Given the description of an element on the screen output the (x, y) to click on. 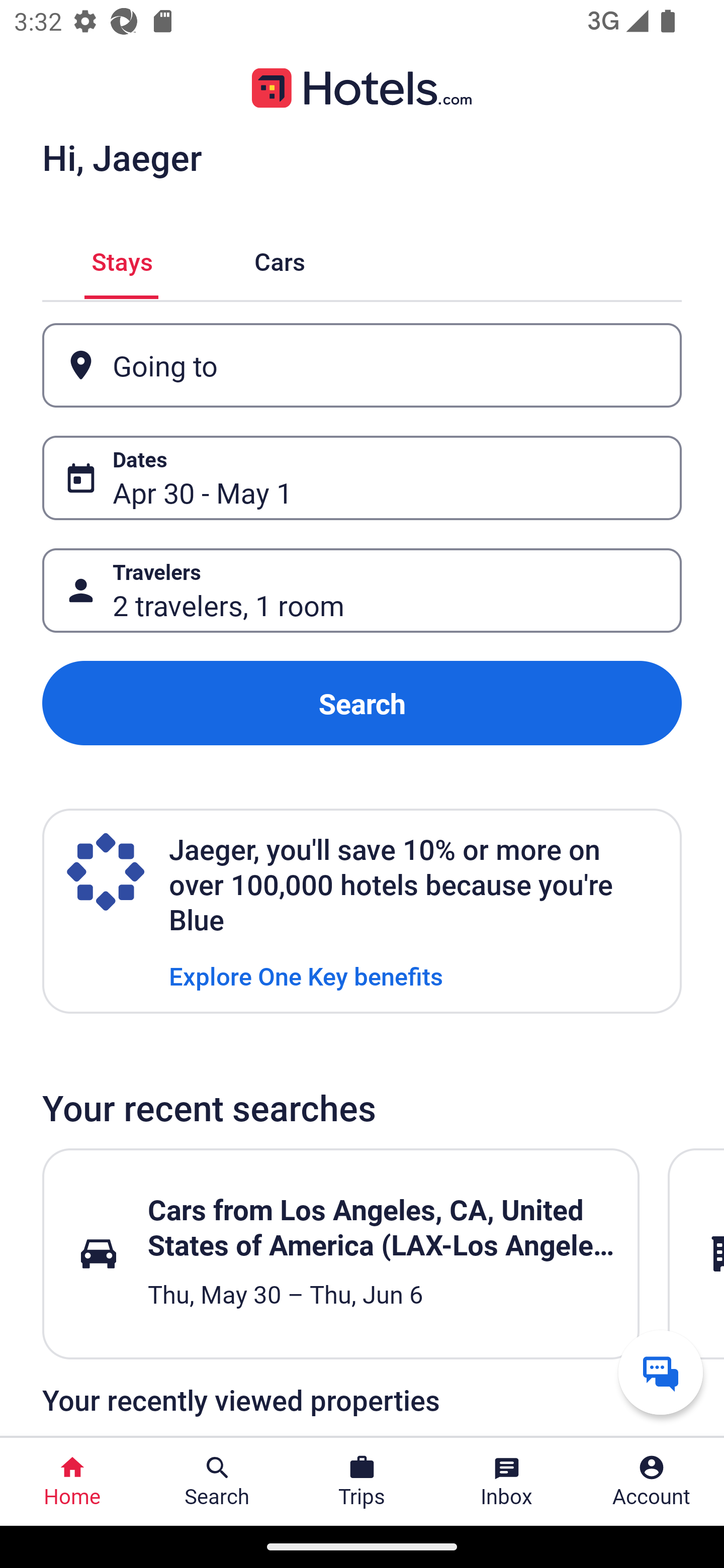
Hi, Jaeger (121, 156)
Cars (279, 259)
Going to Button (361, 365)
Dates Button Apr 30 - May 1 (361, 477)
Travelers Button 2 travelers, 1 room (361, 590)
Search (361, 702)
Get help from a virtual agent (660, 1371)
Search Search Button (216, 1481)
Trips Trips Button (361, 1481)
Inbox Inbox Button (506, 1481)
Account Profile. Button (651, 1481)
